Given the description of an element on the screen output the (x, y) to click on. 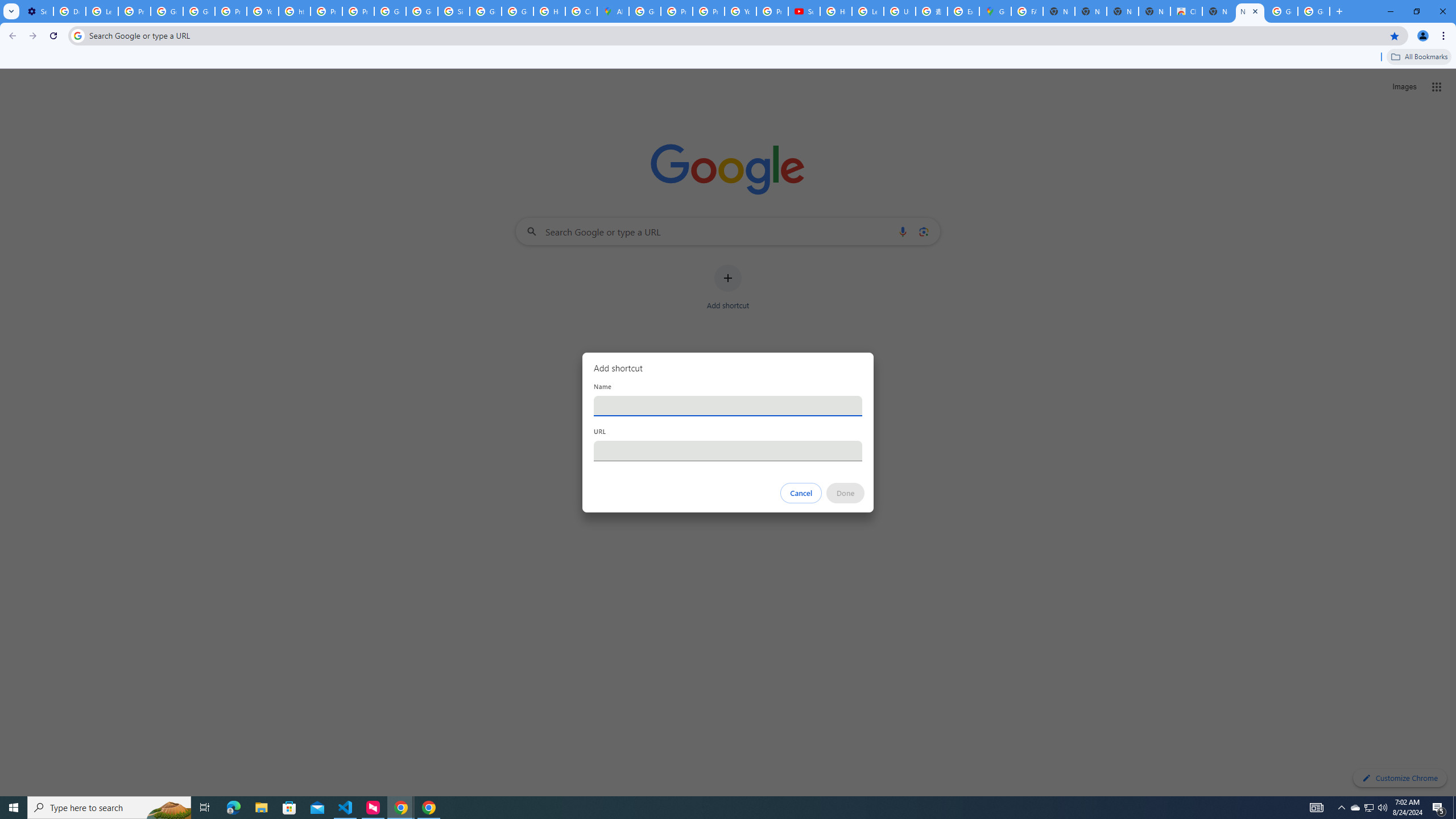
Chrome Web Store (1185, 11)
Name (727, 405)
Subscriptions - YouTube (804, 11)
Google Account Help (198, 11)
Explore new street-level details - Google Maps Help (963, 11)
Privacy Help Center - Policies Help (676, 11)
Delete photos & videos - Computer - Google Photos Help (69, 11)
Google Maps (995, 11)
https://scholar.google.com/ (294, 11)
